Given the description of an element on the screen output the (x, y) to click on. 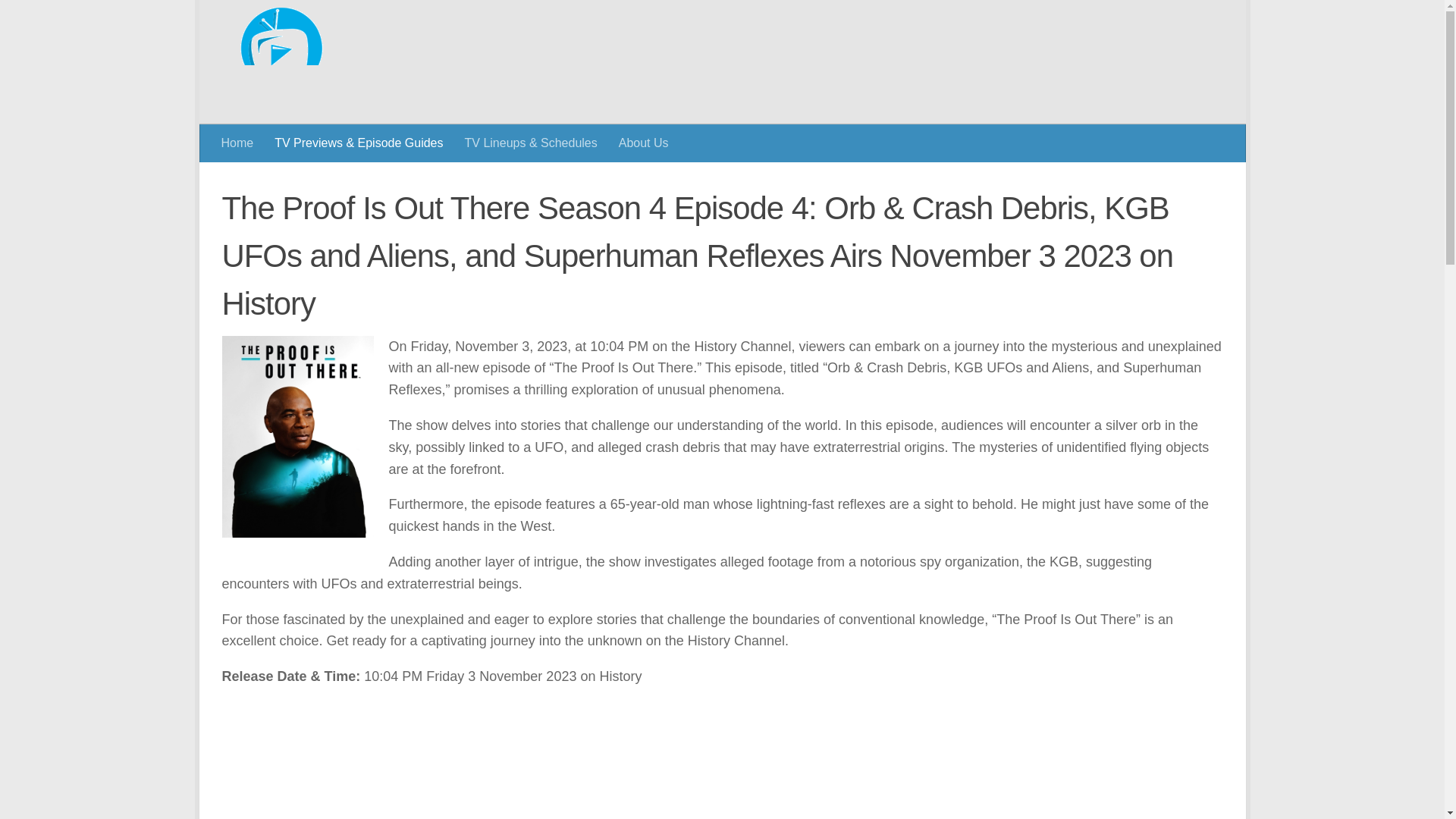
Skip to content (263, 20)
About Us (643, 143)
Home (237, 143)
